Given the description of an element on the screen output the (x, y) to click on. 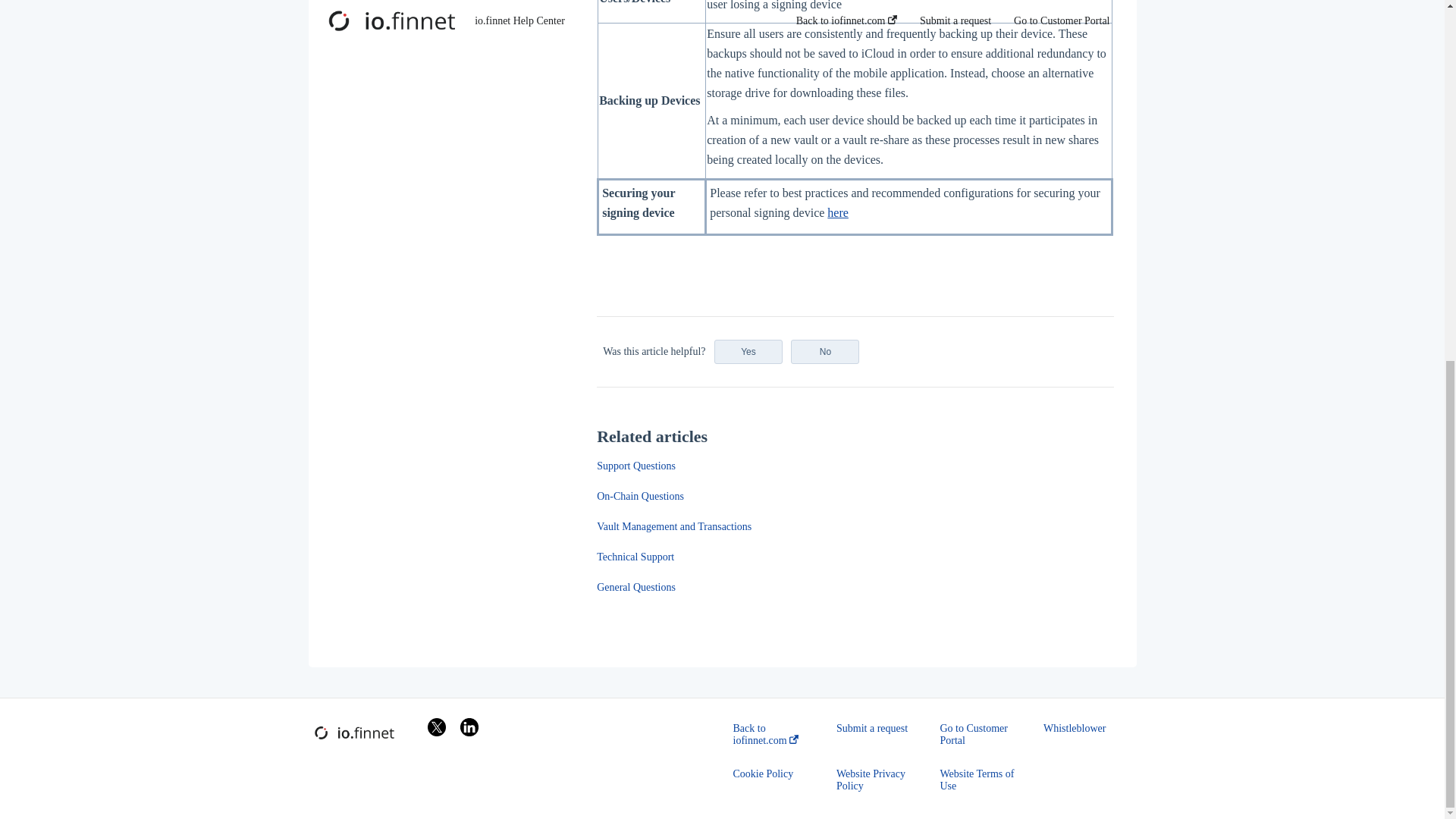
Yes (748, 351)
here (837, 212)
No (824, 351)
